Given the description of an element on the screen output the (x, y) to click on. 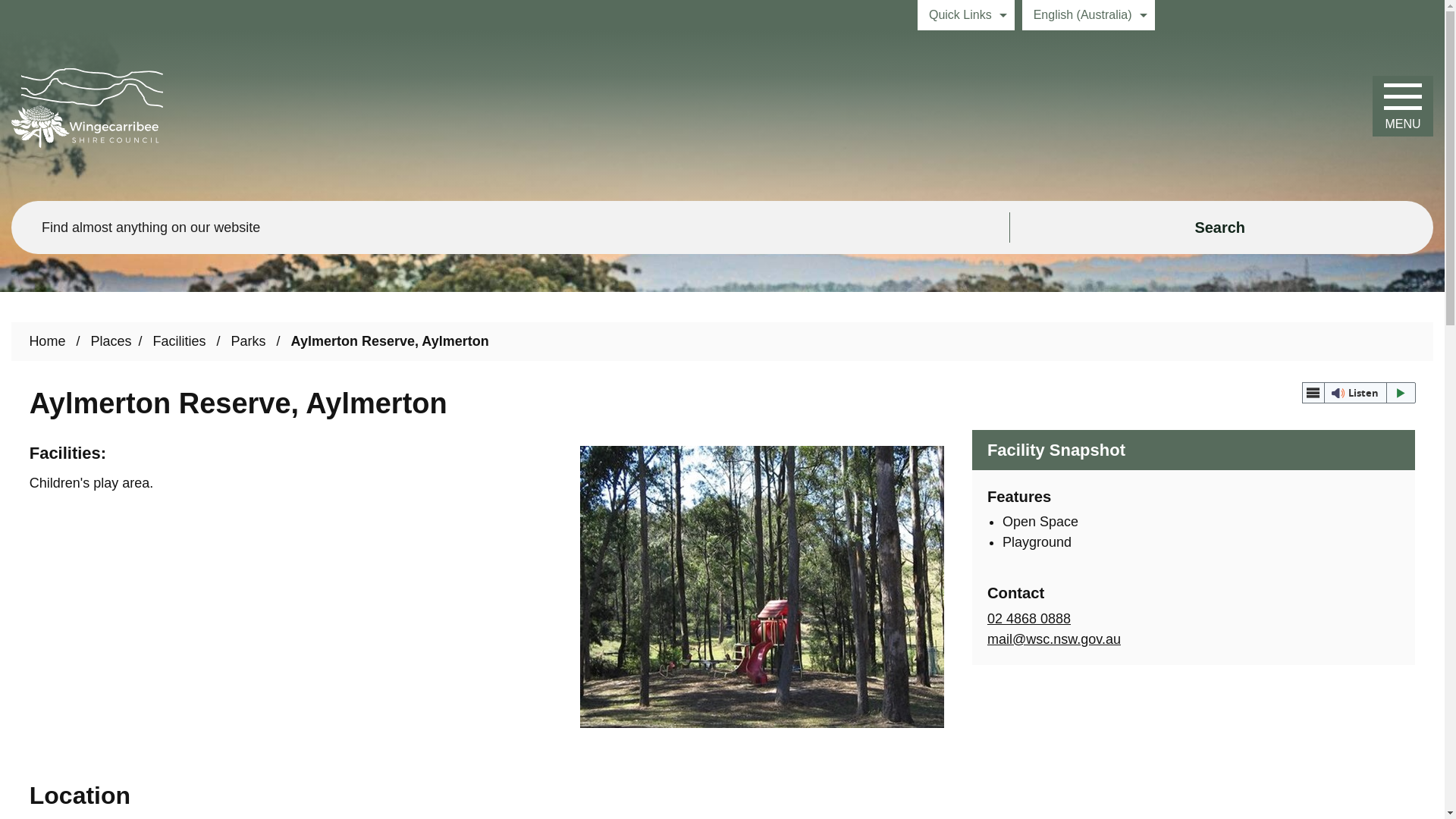
Wingecarribee Shire Council - Home - Logo (87, 107)
Quick Links (965, 15)
Search (1220, 226)
Search (1220, 226)
Search (1220, 226)
MENU (1402, 106)
